Given the description of an element on the screen output the (x, y) to click on. 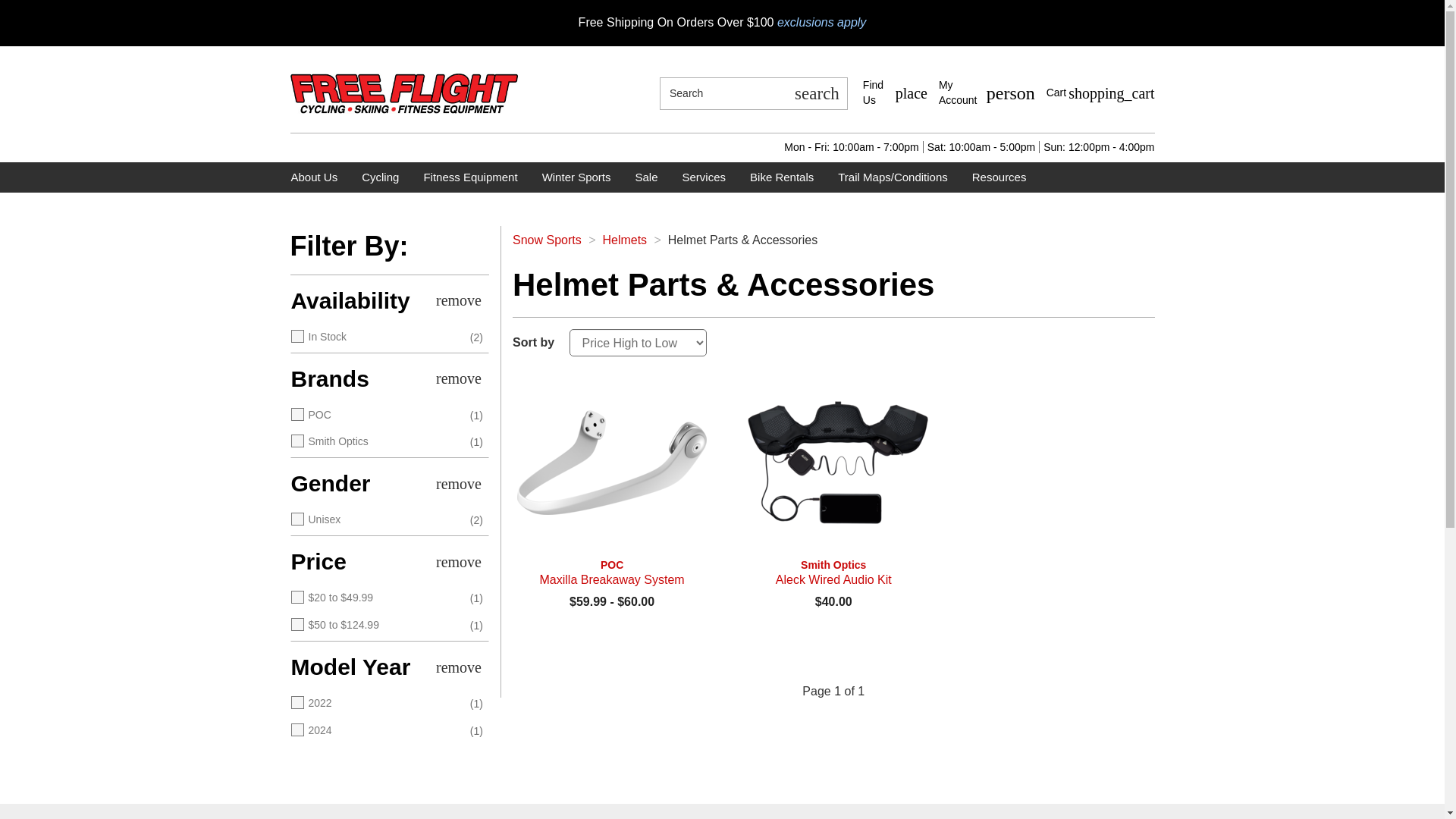
Smith Optics Aleck Wired Audio Kit (833, 572)
Search (816, 92)
POC Maxilla Breakaway System (611, 572)
Cycling (380, 177)
Free Flight Home Page (402, 92)
About Us (1100, 93)
Smith Optics Aleck Wired Audio Kit (314, 177)
POC Maxilla Breakaway System (987, 92)
